Given the description of an element on the screen output the (x, y) to click on. 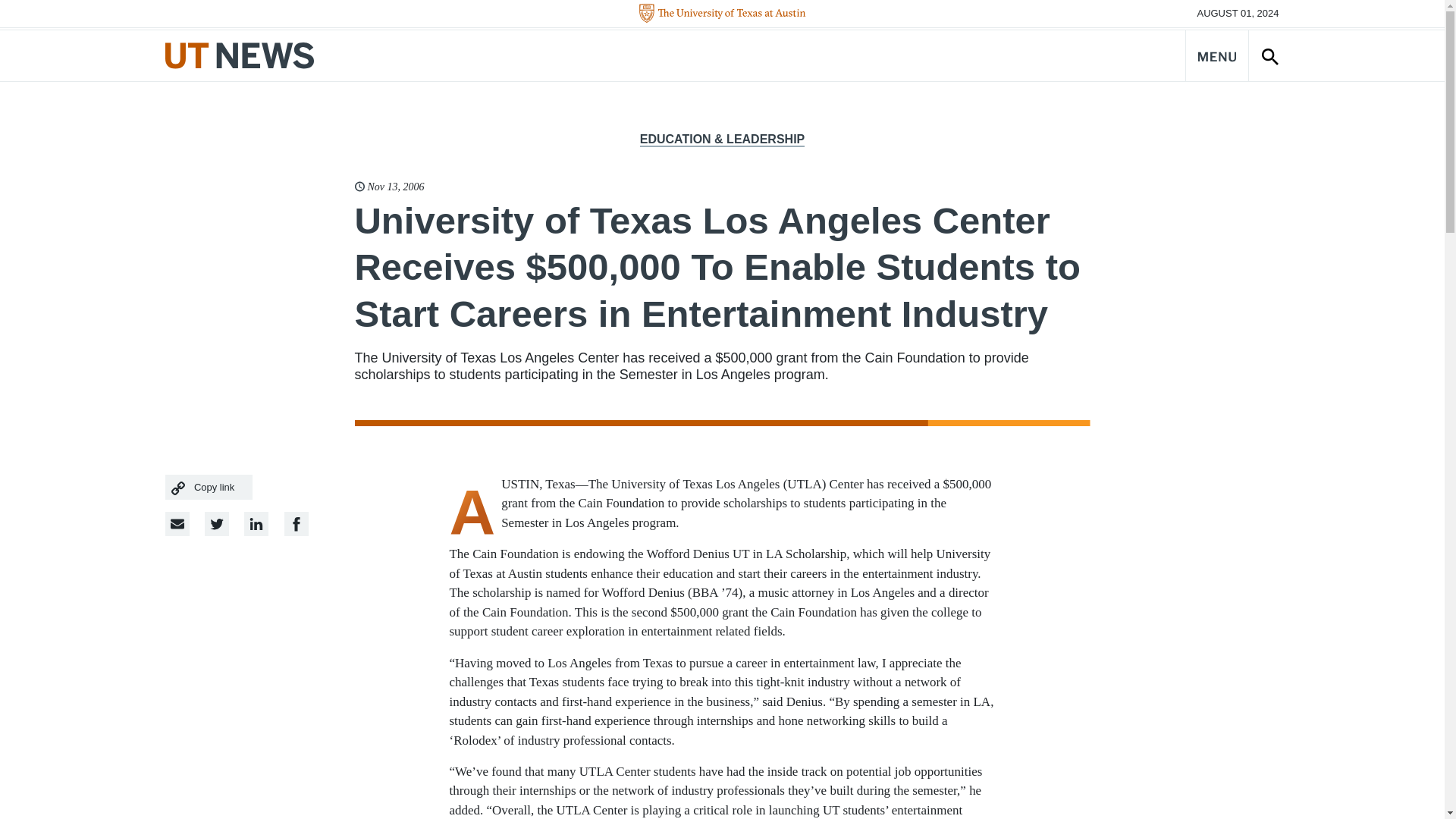
LinkedIn Share Link (295, 523)
Navigation (1216, 55)
Copy link (209, 487)
The University of Texas at Austin (722, 13)
Facebook Share Link (255, 523)
Twitter Share Link (216, 523)
Email Share Link (177, 523)
UT News (239, 55)
